Given the description of an element on the screen output the (x, y) to click on. 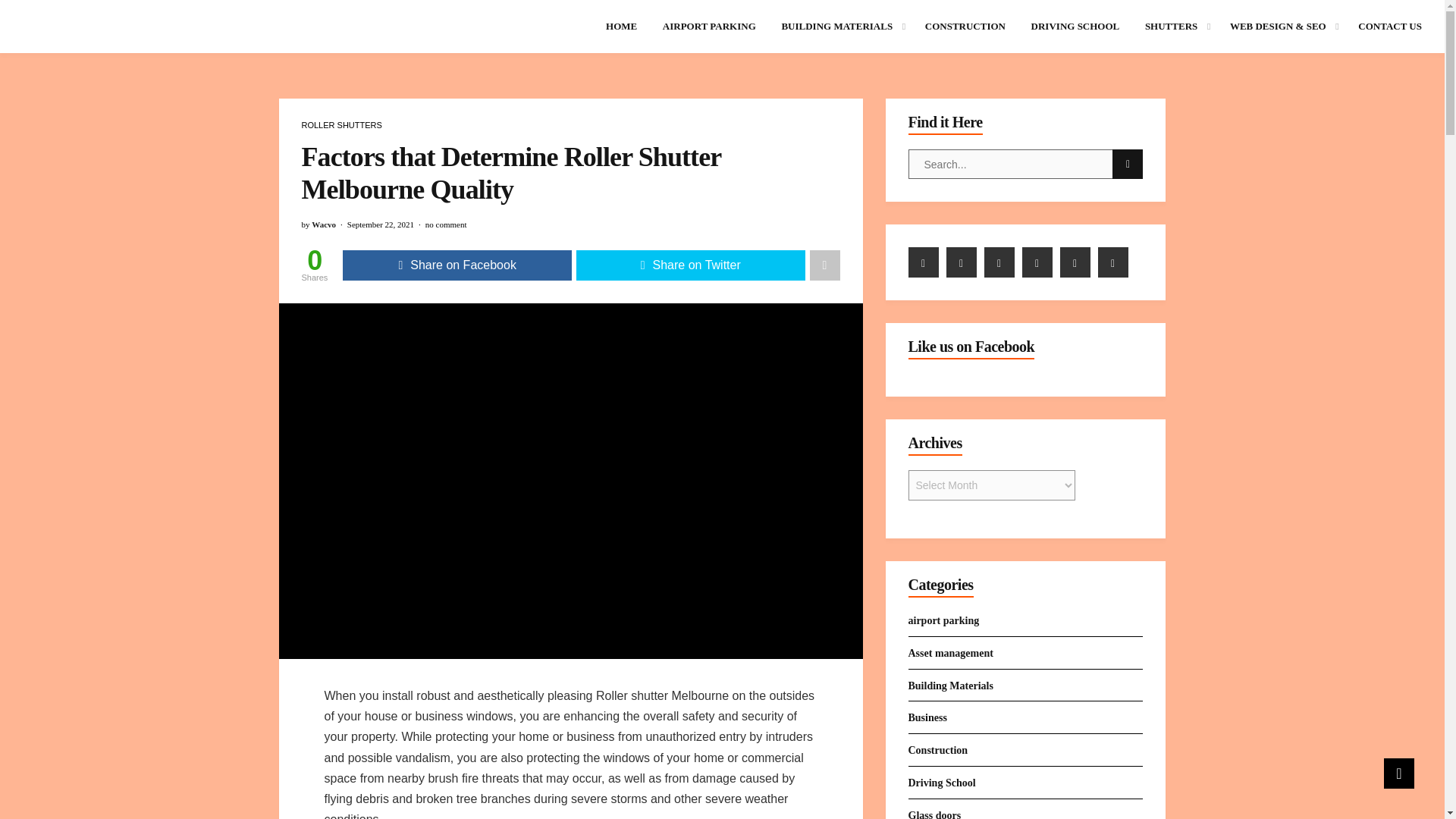
BUILDING MATERIALS (839, 26)
no comment (446, 224)
AIRPORT PARKING (708, 26)
Share (824, 265)
Share this (457, 265)
CONSTRUCTION (965, 26)
SHUTTERS (1174, 26)
Factors that Determine Roller Shutter Melbourne Quality (571, 480)
CONTACT US (1390, 26)
View all posts in Roller shutters (341, 125)
Posts by Wacvo (323, 224)
Tweet (690, 265)
DRIVING SCHOOL (1074, 26)
